Given the description of an element on the screen output the (x, y) to click on. 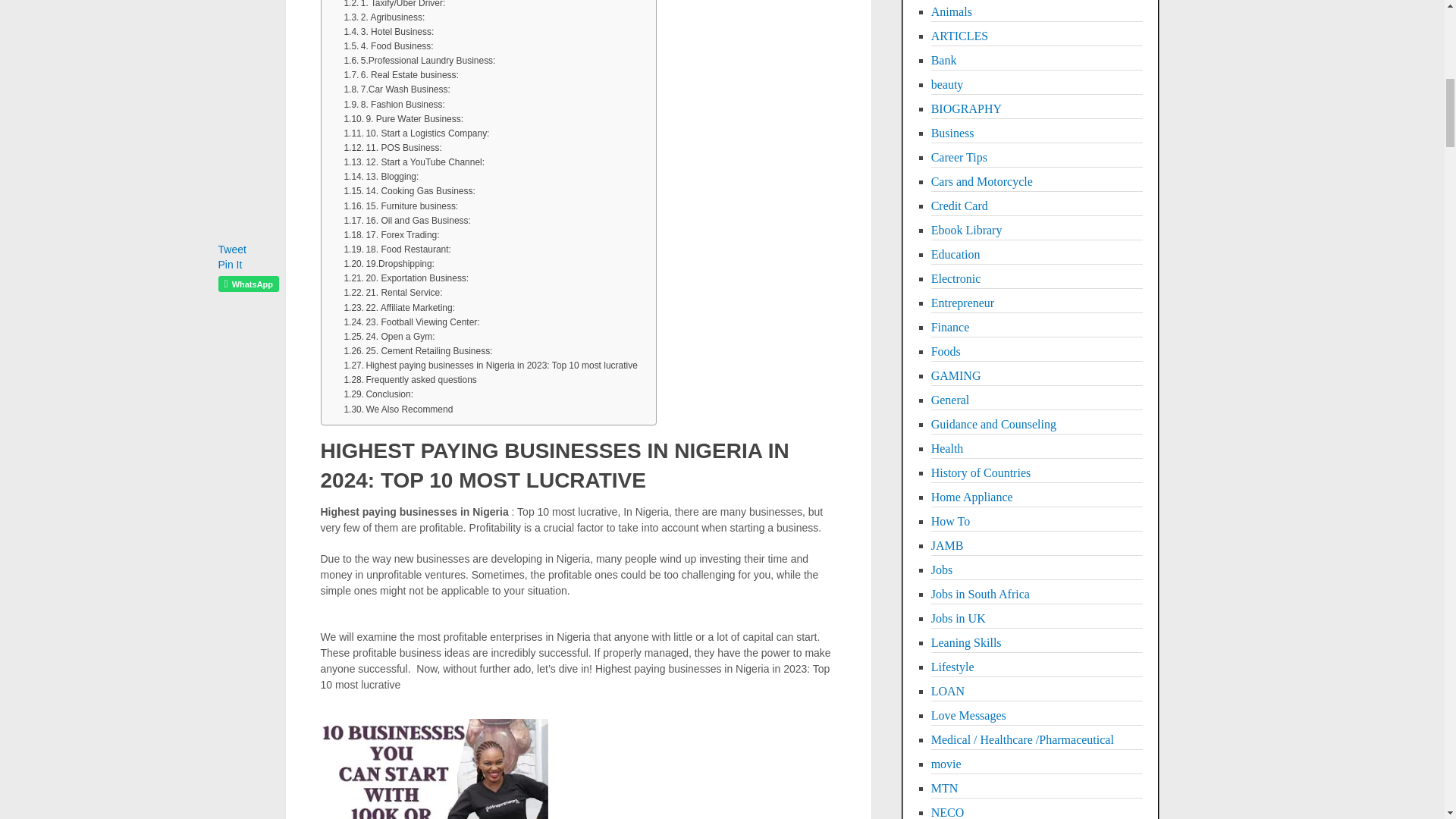
8. Fashion Business: (393, 104)
6. Real Estate business: (400, 74)
4. Food Business: (387, 46)
7.Car Wash Business: (396, 89)
2. Agribusiness: (384, 17)
5.Professional Laundry Business: (419, 60)
